Given the description of an element on the screen output the (x, y) to click on. 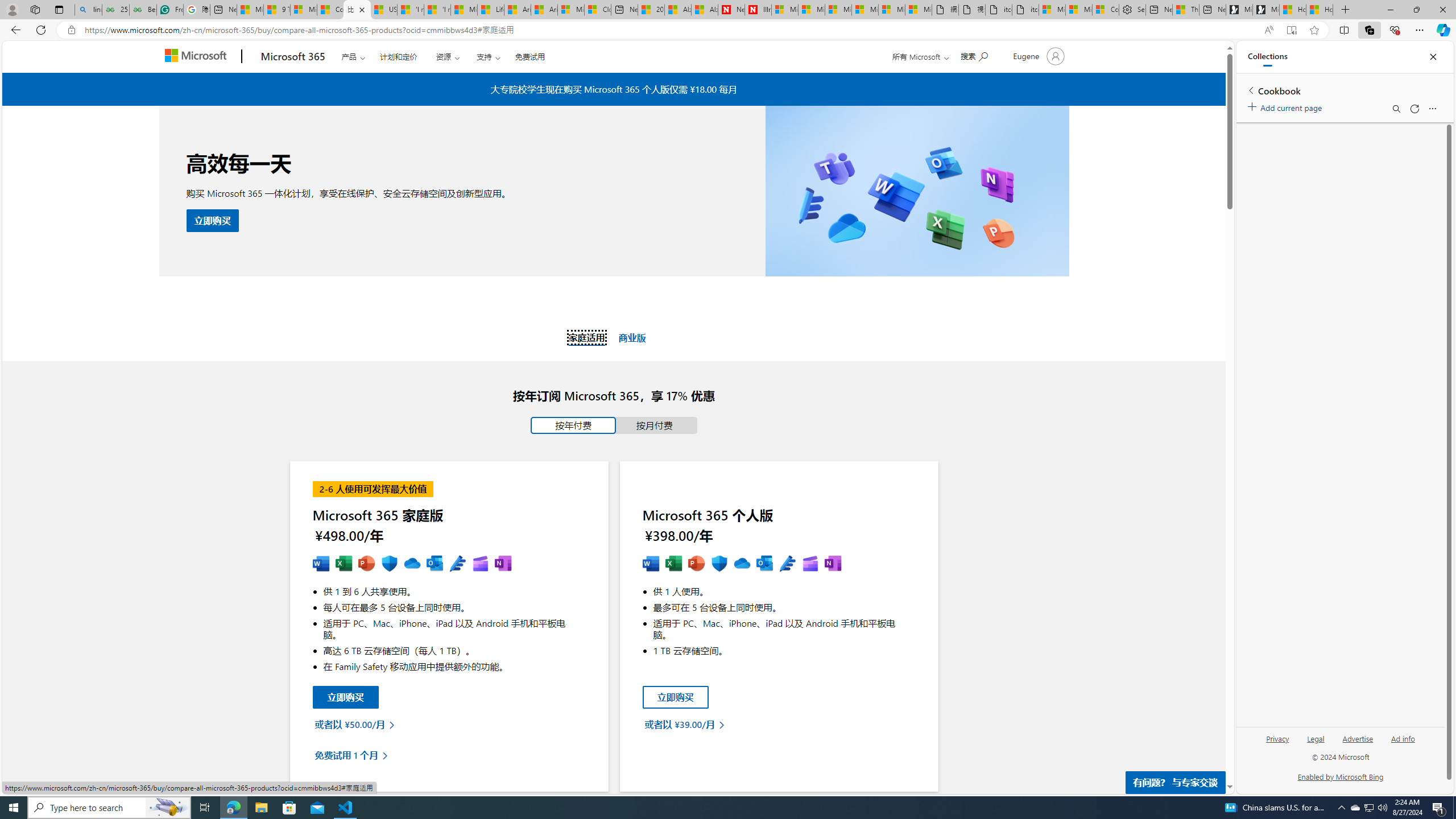
Consumer Health Data Privacy Policy (1105, 9)
MS Outlook (435, 563)
Lifestyle - MSN (491, 9)
MS Defender  (719, 563)
Back to list of collections (1250, 90)
Best SSL Certificates Provider in India - GeeksforGeeks (143, 9)
